Given the description of an element on the screen output the (x, y) to click on. 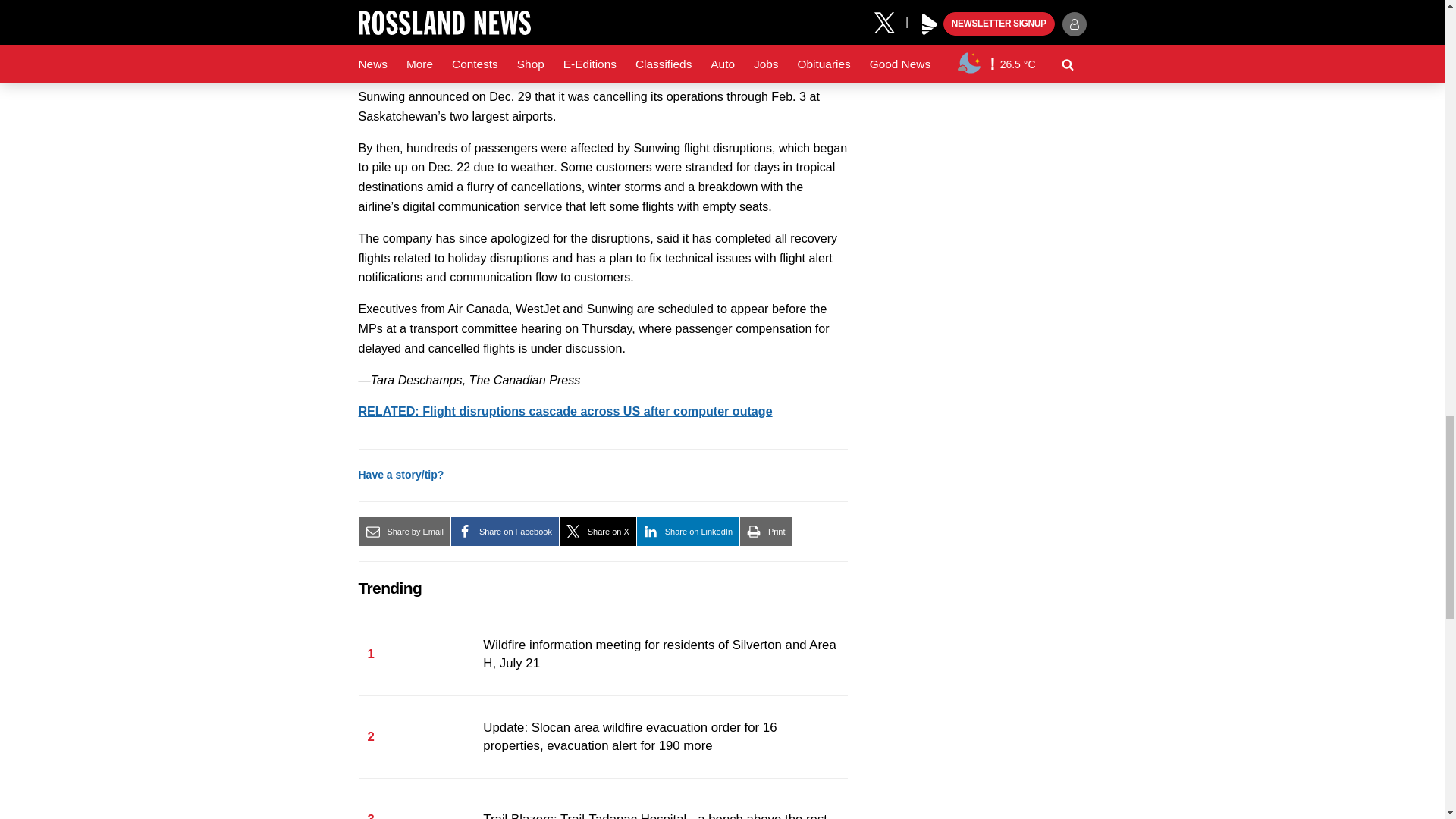
related story (564, 410)
